Given the description of an element on the screen output the (x, y) to click on. 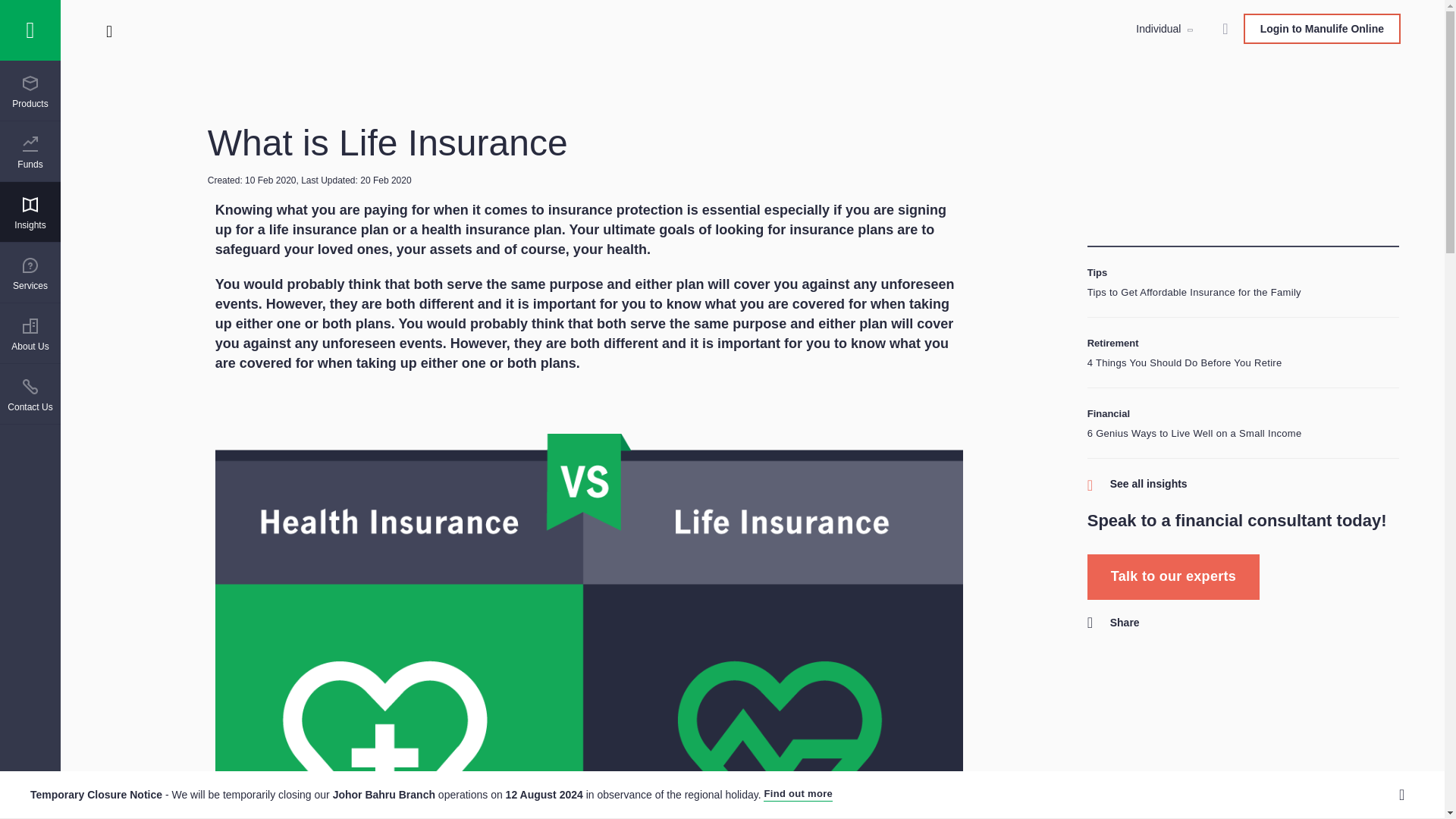
Insights (30, 213)
Products (30, 92)
Manulife Logo (30, 30)
Funds (30, 153)
About Us (30, 334)
Products (30, 92)
Find out more (797, 794)
Insights (30, 213)
Services (30, 274)
Funds (30, 153)
